Given the description of an element on the screen output the (x, y) to click on. 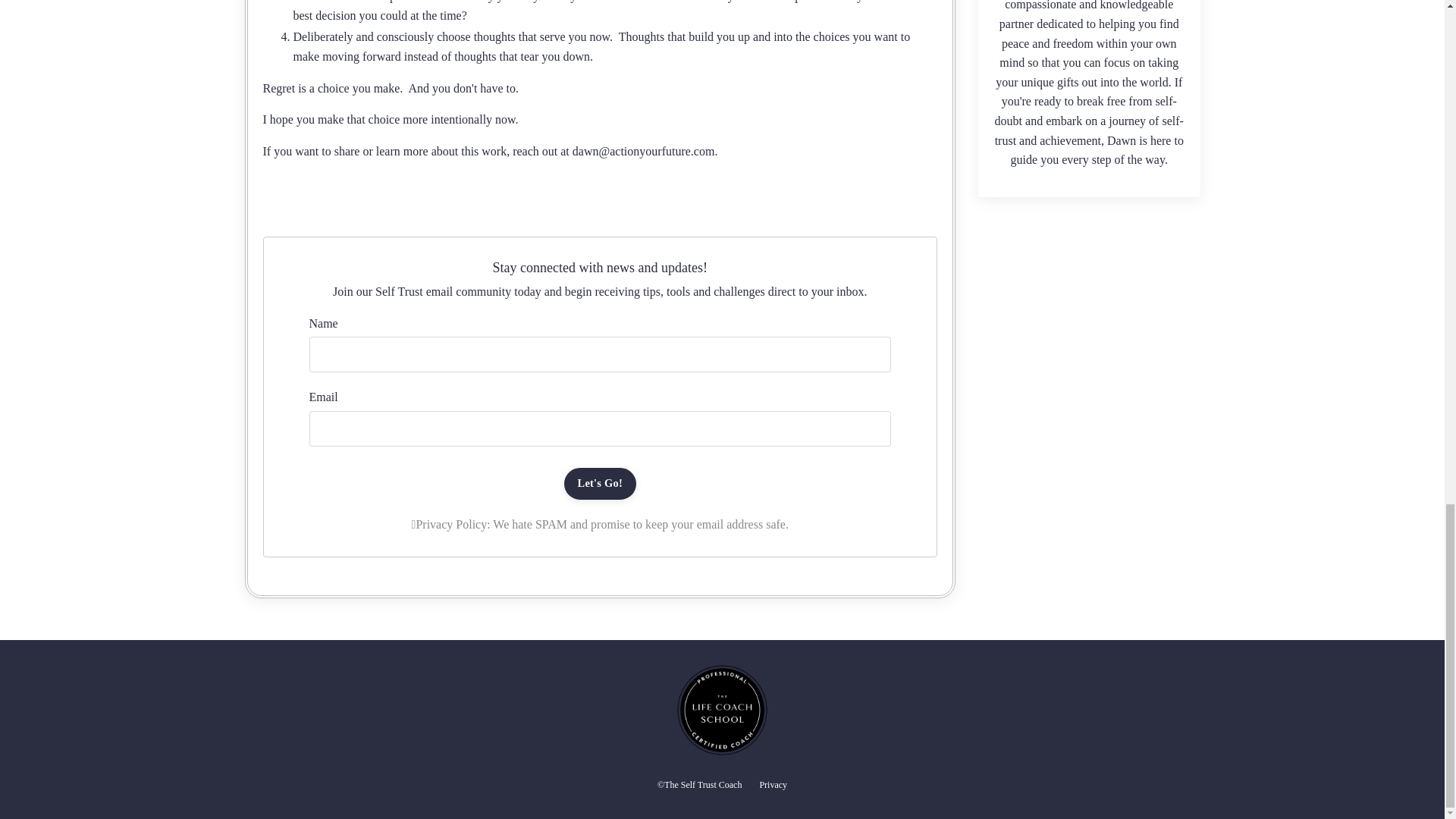
Privacy (772, 784)
Let's Go! (600, 483)
Let's Go! (600, 483)
